Given the description of an element on the screen output the (x, y) to click on. 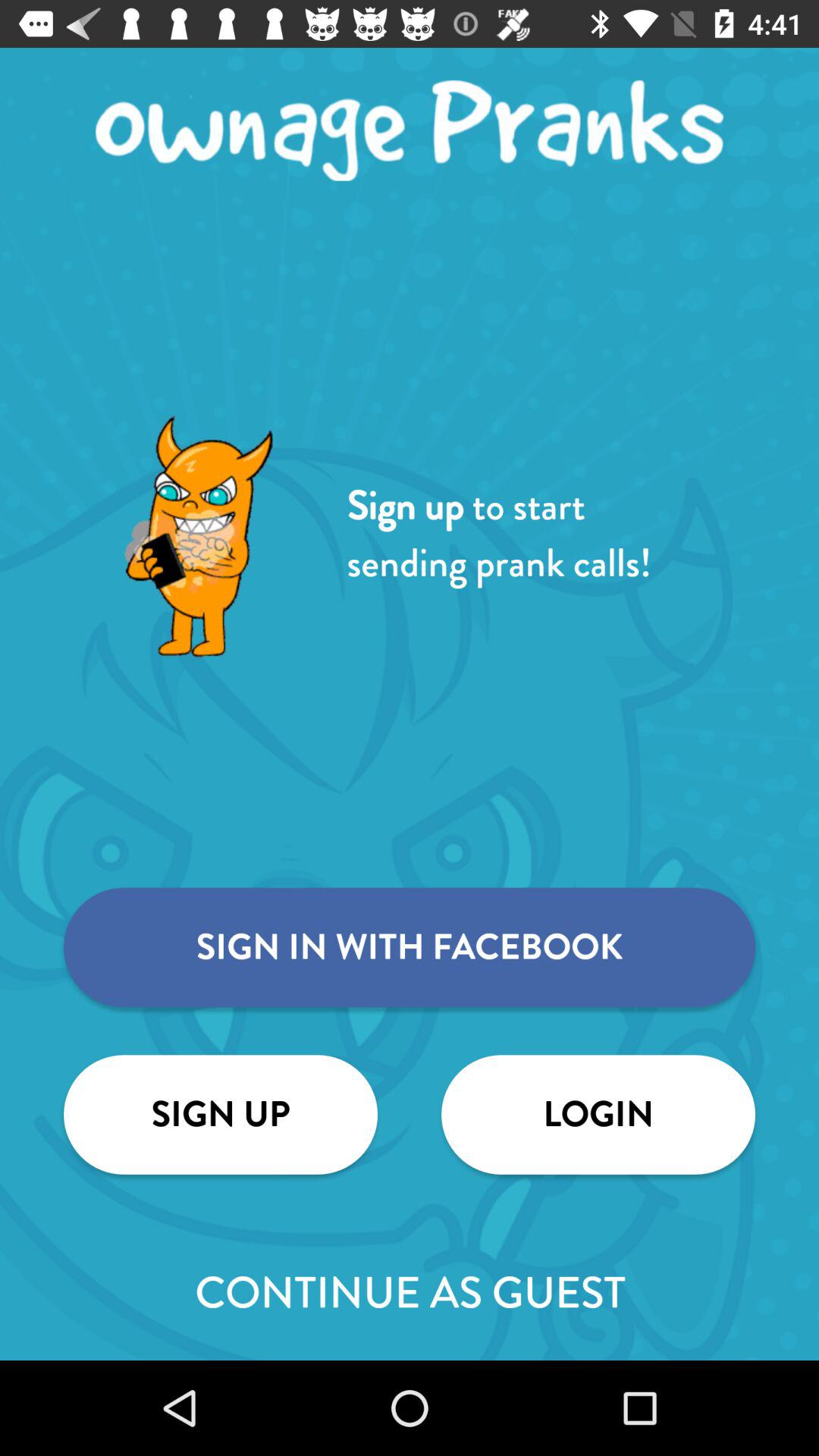
turn off the icon next to the sign up icon (598, 1114)
